Given the description of an element on the screen output the (x, y) to click on. 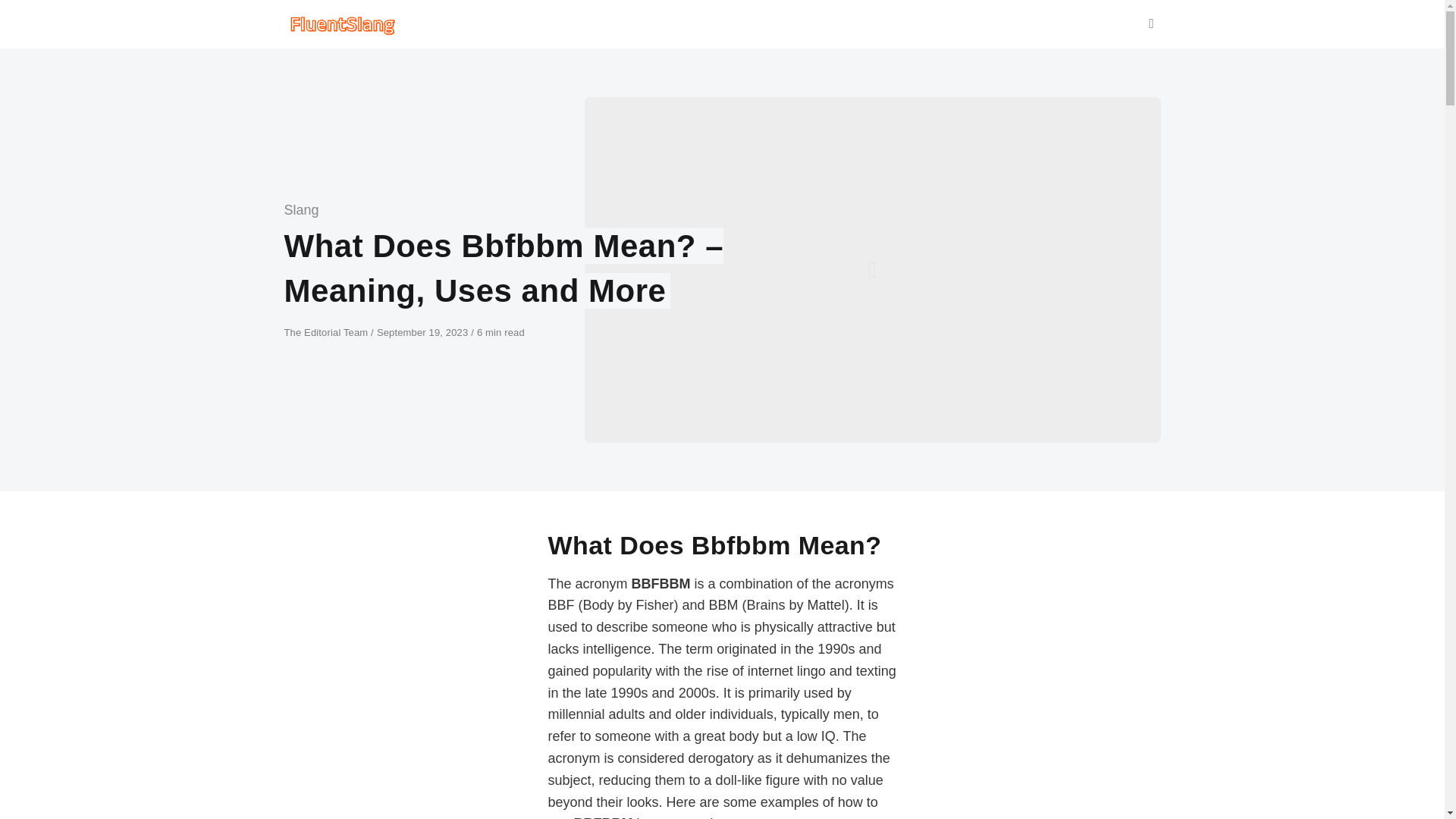
The Editorial Team (327, 332)
September 19, 2023 (423, 332)
Slang (300, 209)
September 19, 2023 (423, 332)
